Given the description of an element on the screen output the (x, y) to click on. 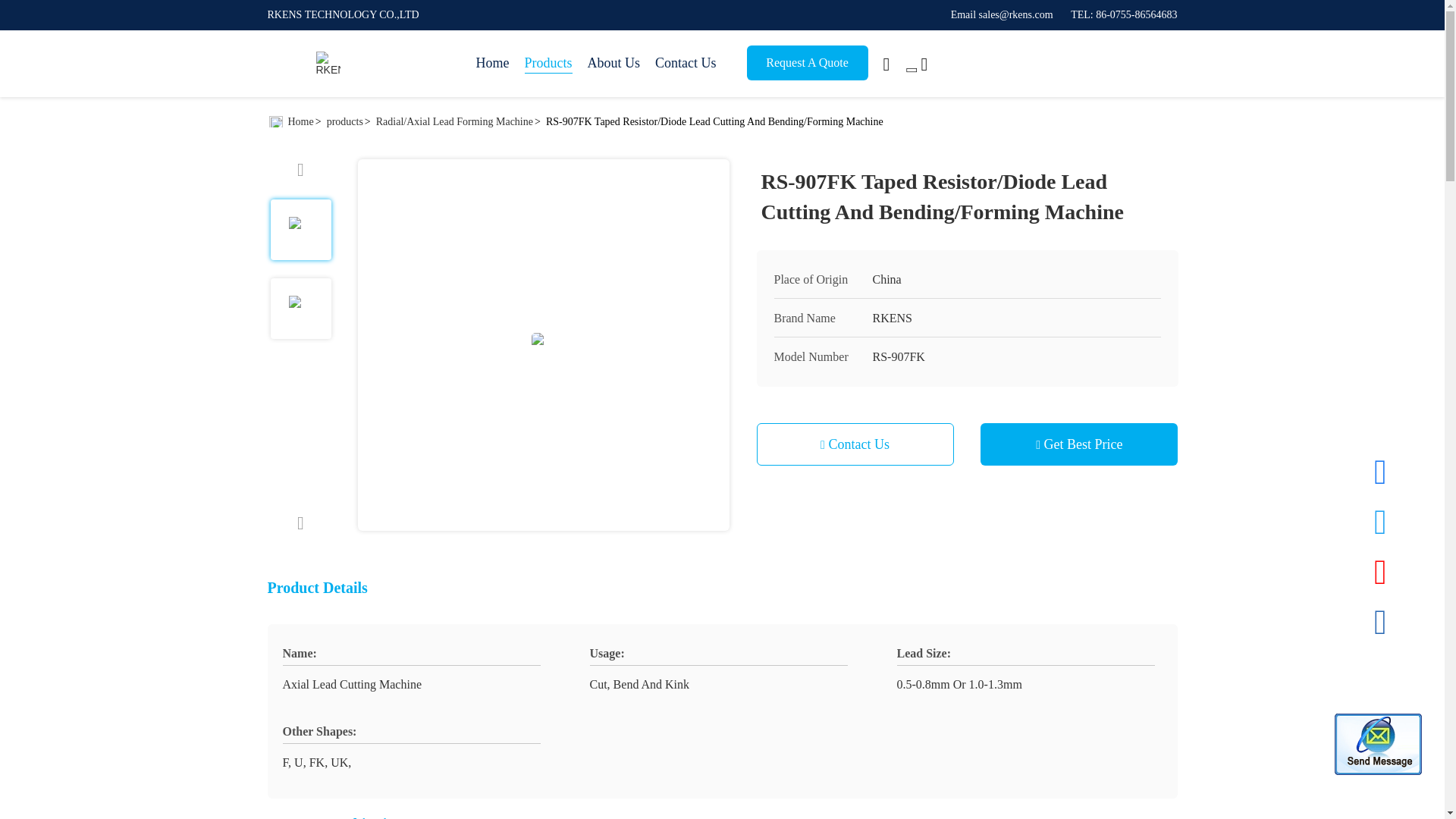
Products (548, 63)
email (1001, 14)
Home (327, 63)
Home (492, 63)
